Given the description of an element on the screen output the (x, y) to click on. 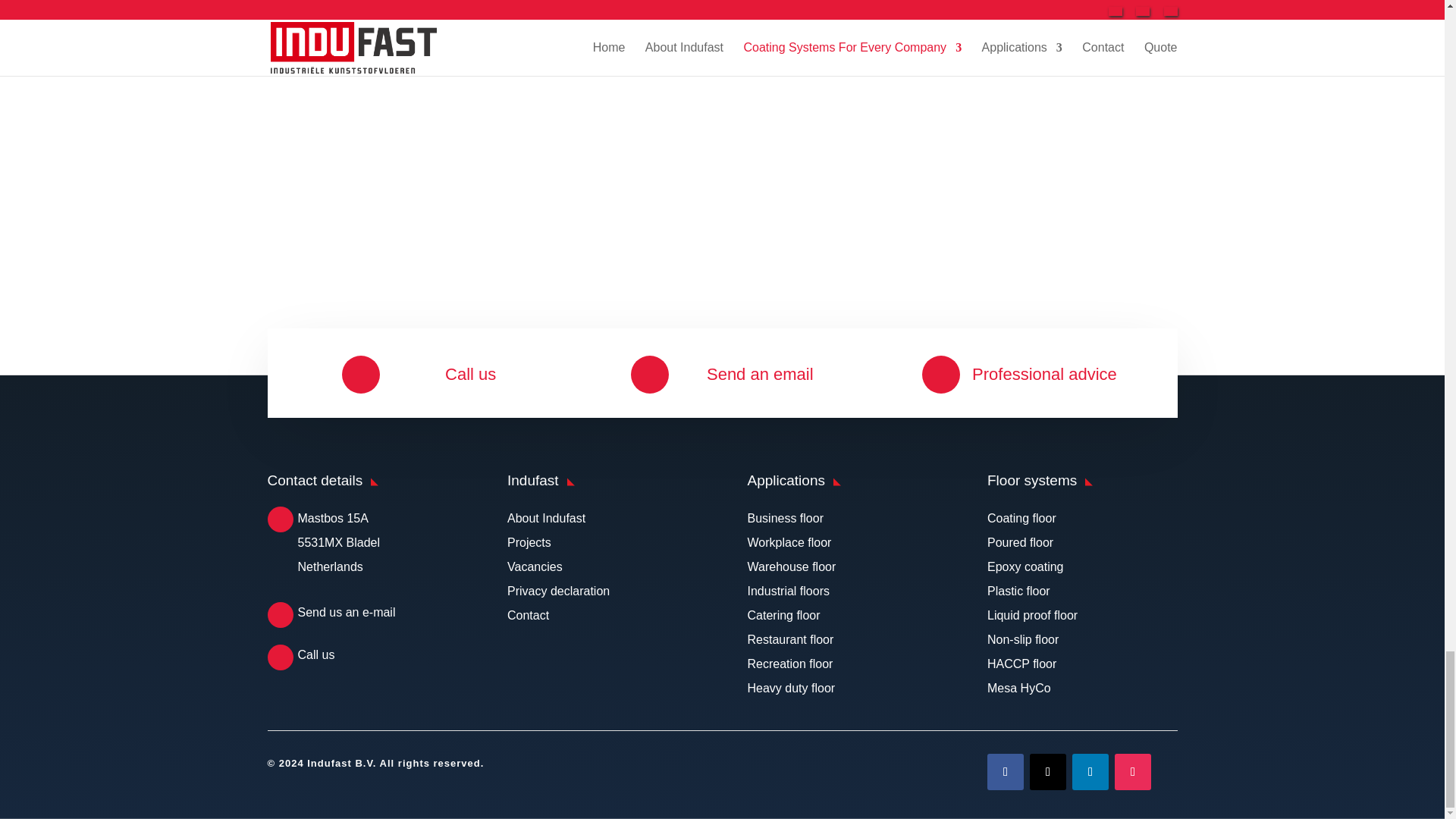
Follow on Facebook (1005, 771)
Follow on LinkedIn (1089, 771)
Follow on Instagram (1133, 771)
Follow on X (1047, 771)
